Given the description of an element on the screen output the (x, y) to click on. 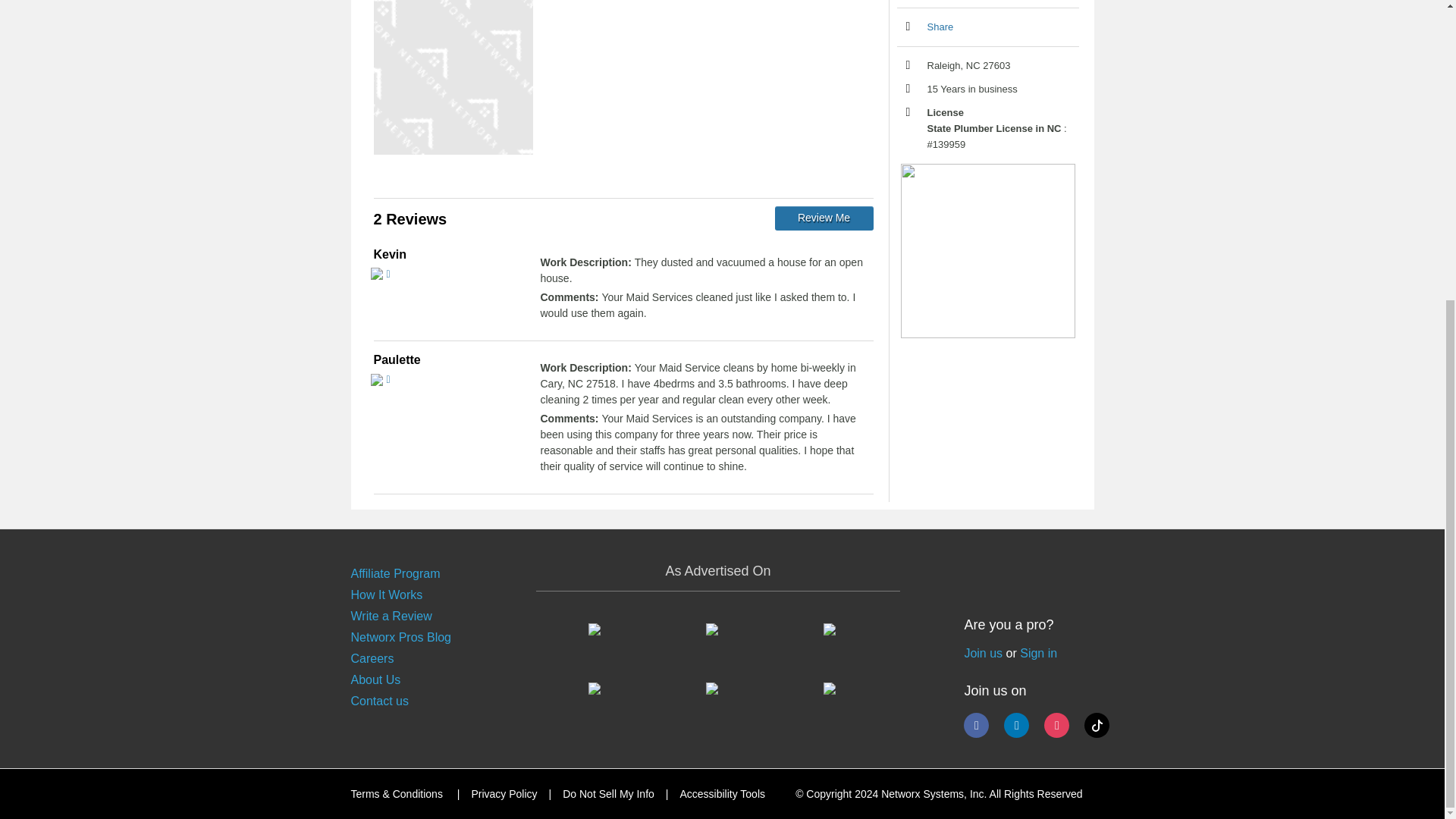
Review Me (823, 218)
How It Works (386, 594)
Affiliate Program (394, 573)
